Given the description of an element on the screen output the (x, y) to click on. 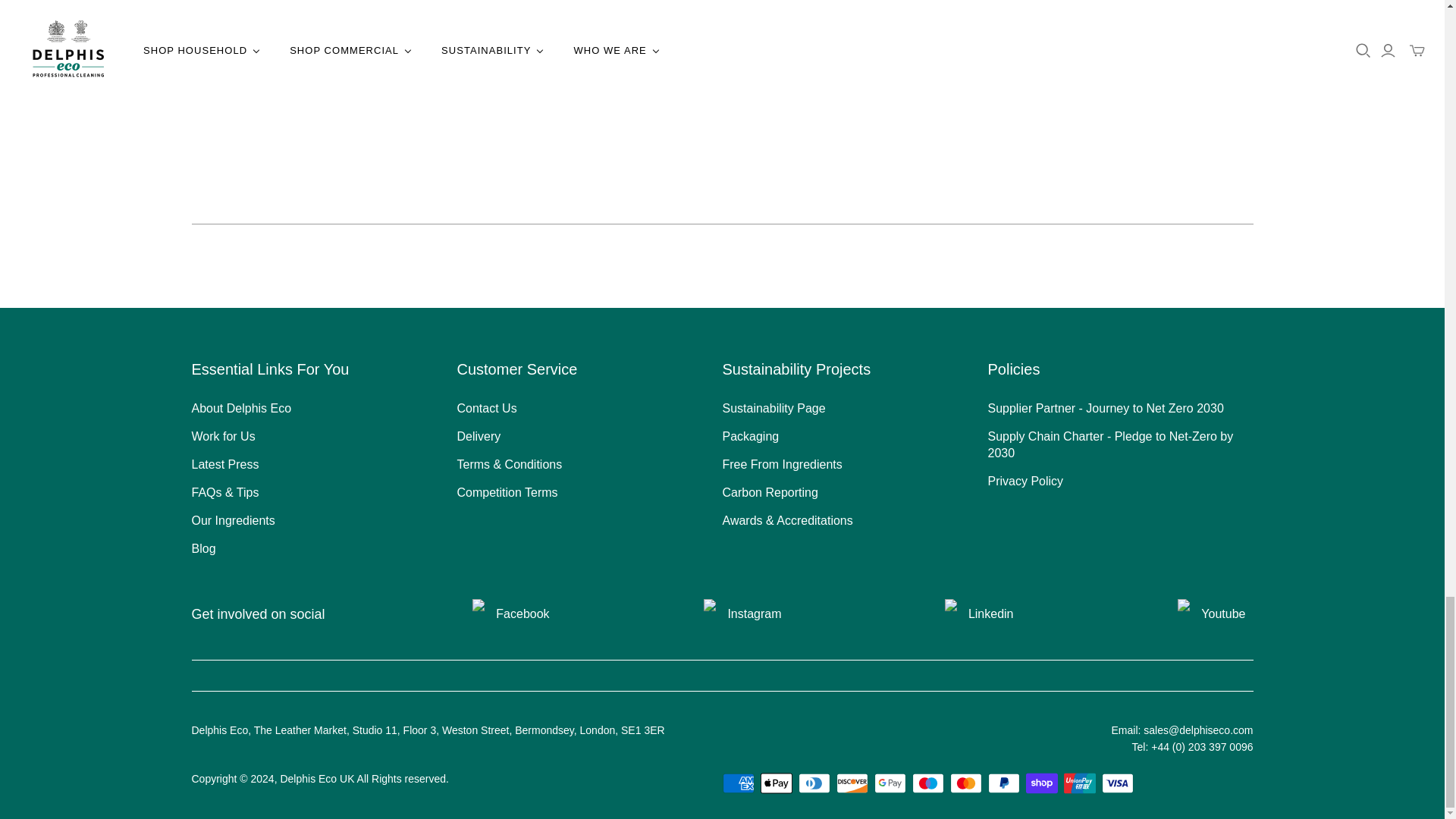
Diners Club (813, 783)
PayPal (1003, 783)
Visa (1116, 783)
Mastercard (965, 783)
Maestro (927, 783)
Union Pay (1078, 783)
American Express (738, 783)
Apple Pay (776, 783)
Discover (851, 783)
Google Pay (889, 783)
Shop Pay (1041, 783)
